Given the description of an element on the screen output the (x, y) to click on. 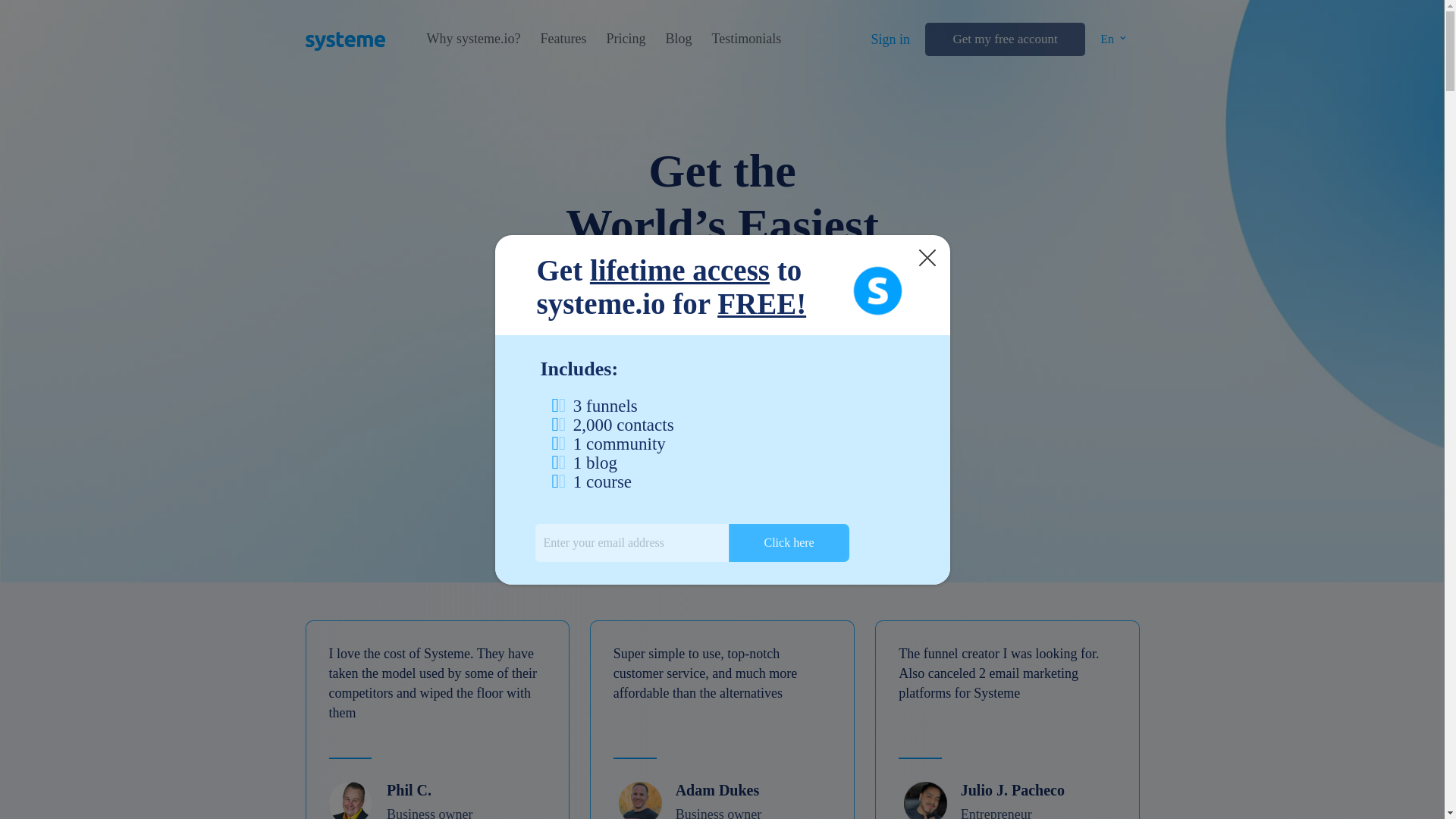
Sign in (890, 39)
Blog (678, 38)
Pricing (625, 38)
Testimonials (745, 38)
Features (563, 38)
Why systeme.io? (472, 38)
Get my free account (1004, 39)
